Given the description of an element on the screen output the (x, y) to click on. 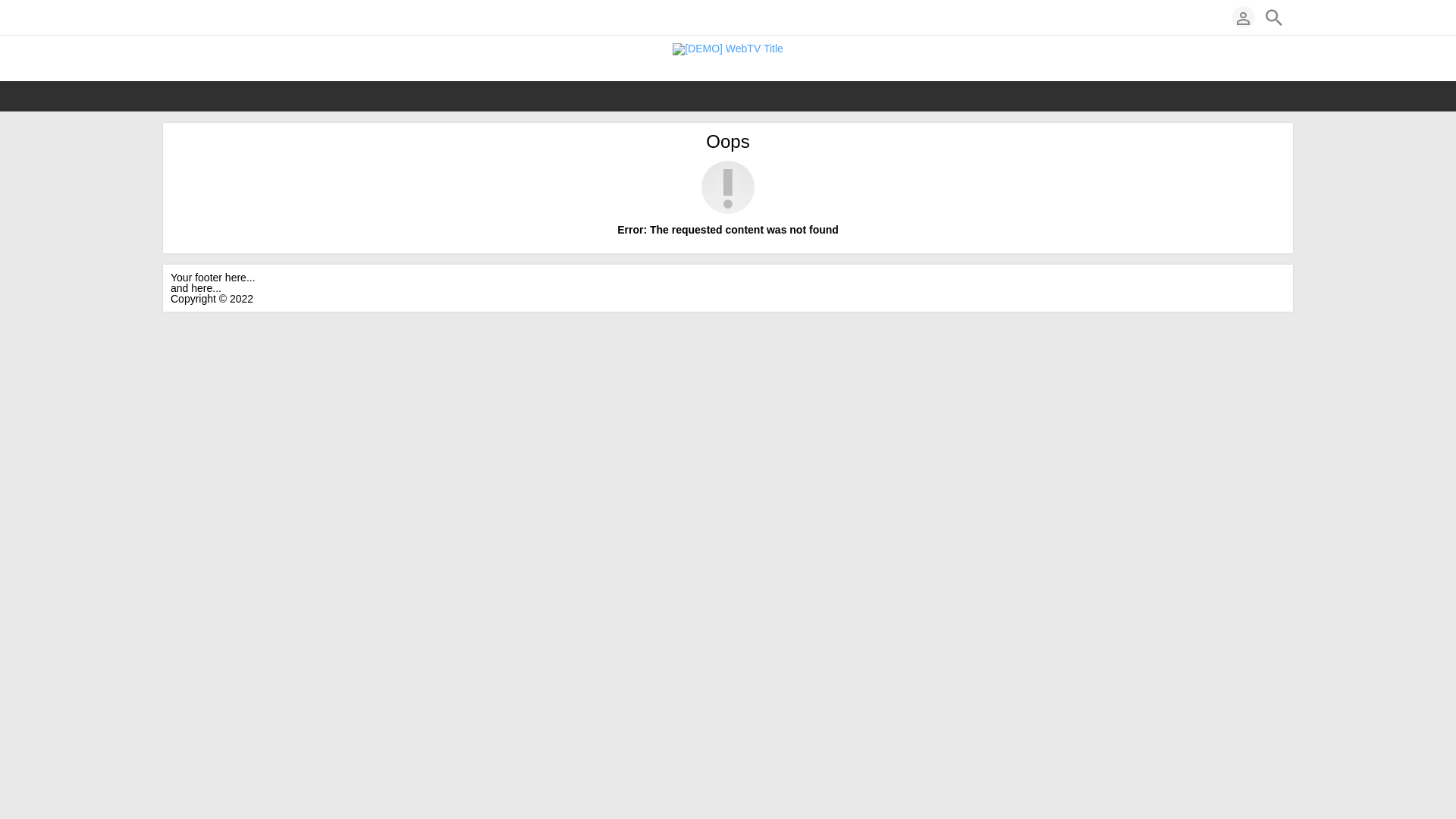
[DEMO] WebTV Title Element type: hover (727, 49)
Search Element type: hover (1273, 17)
Subscribe (Global WebTV Feed) Element type: hover (177, 17)
